Given the description of an element on the screen output the (x, y) to click on. 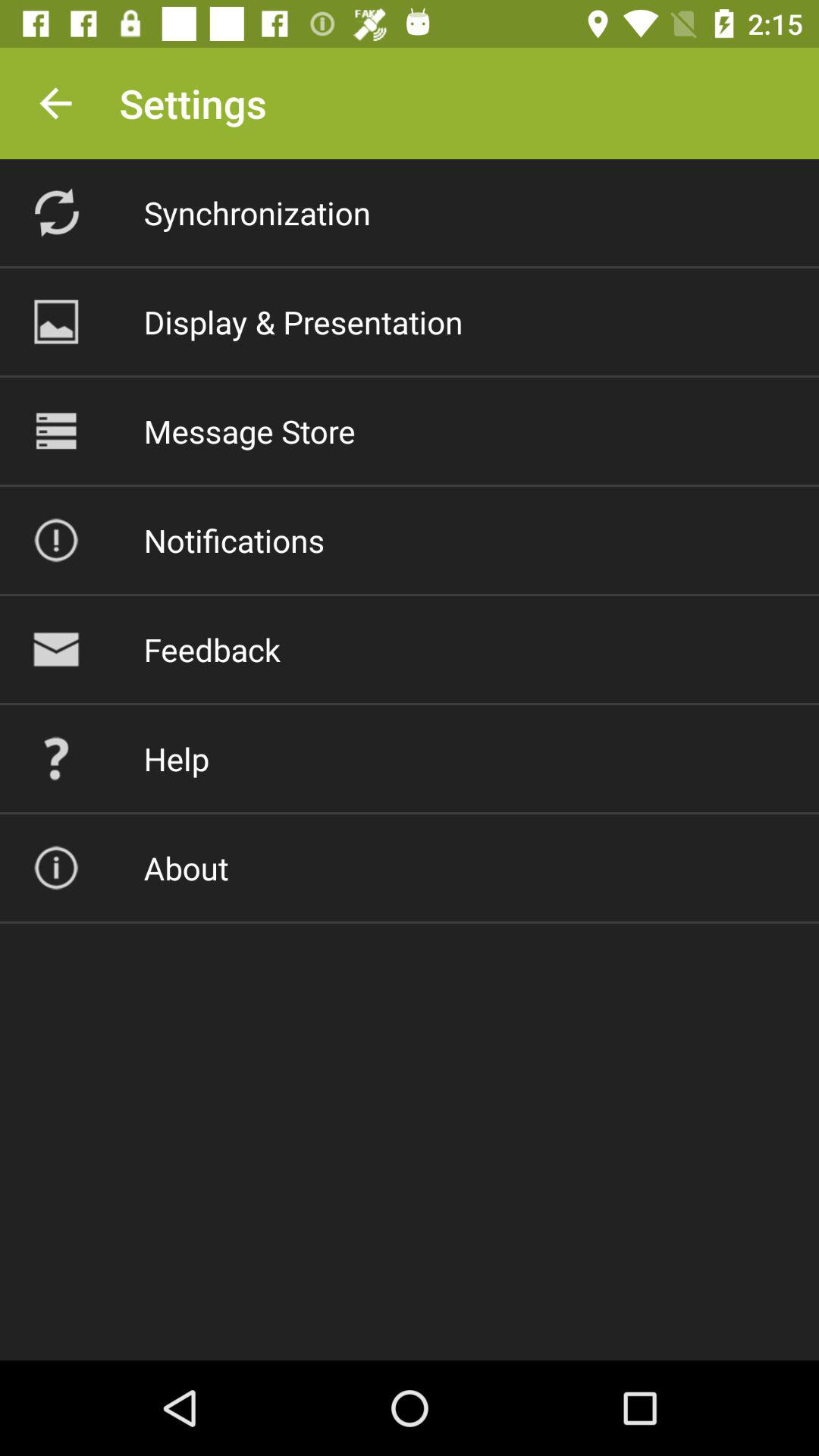
flip to feedback item (211, 649)
